Given the description of an element on the screen output the (x, y) to click on. 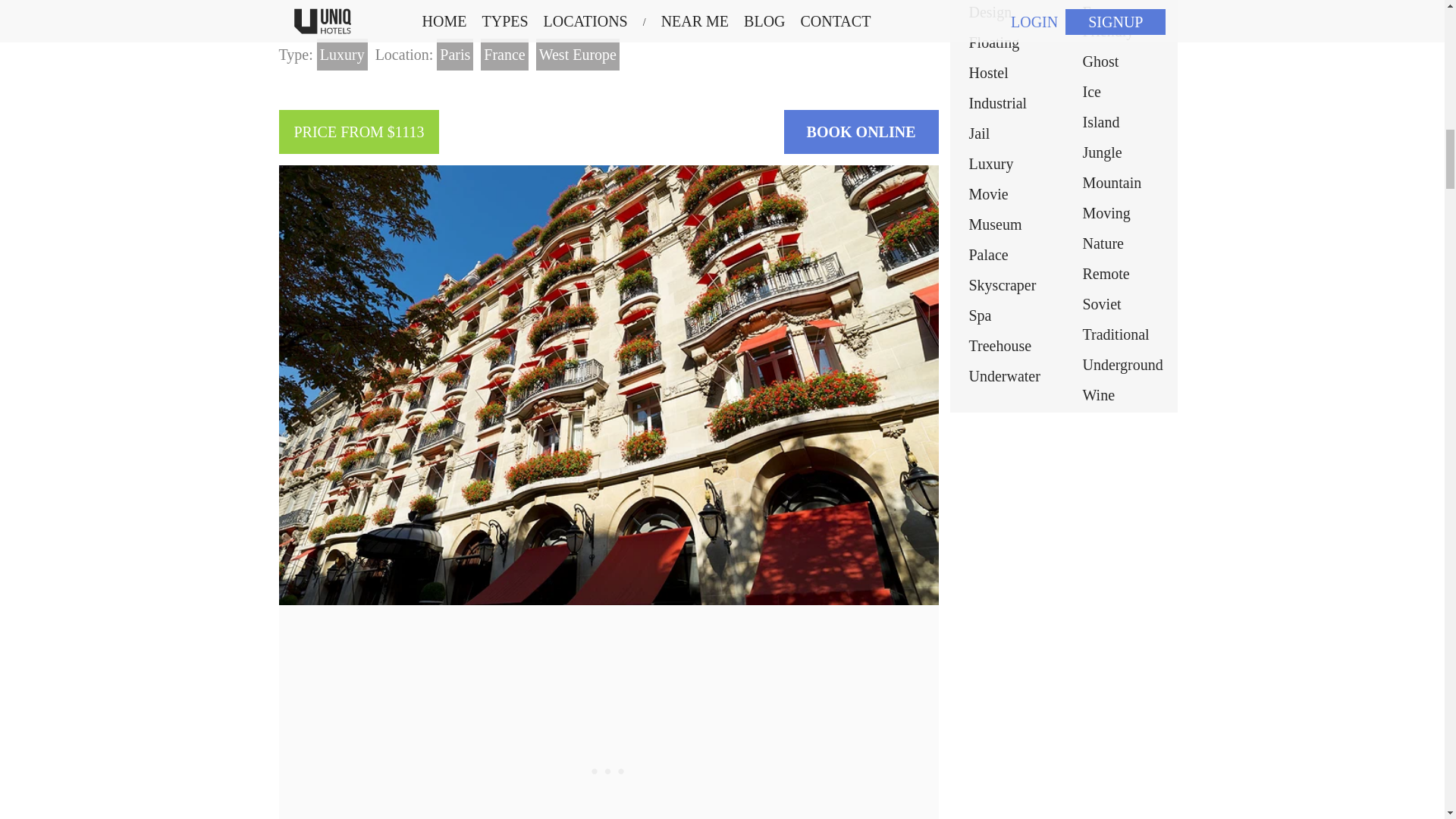
Paris (454, 54)
BOOK ONLINE (861, 131)
France (503, 54)
Luxury (342, 54)
West Europe (577, 54)
